Given the description of an element on the screen output the (x, y) to click on. 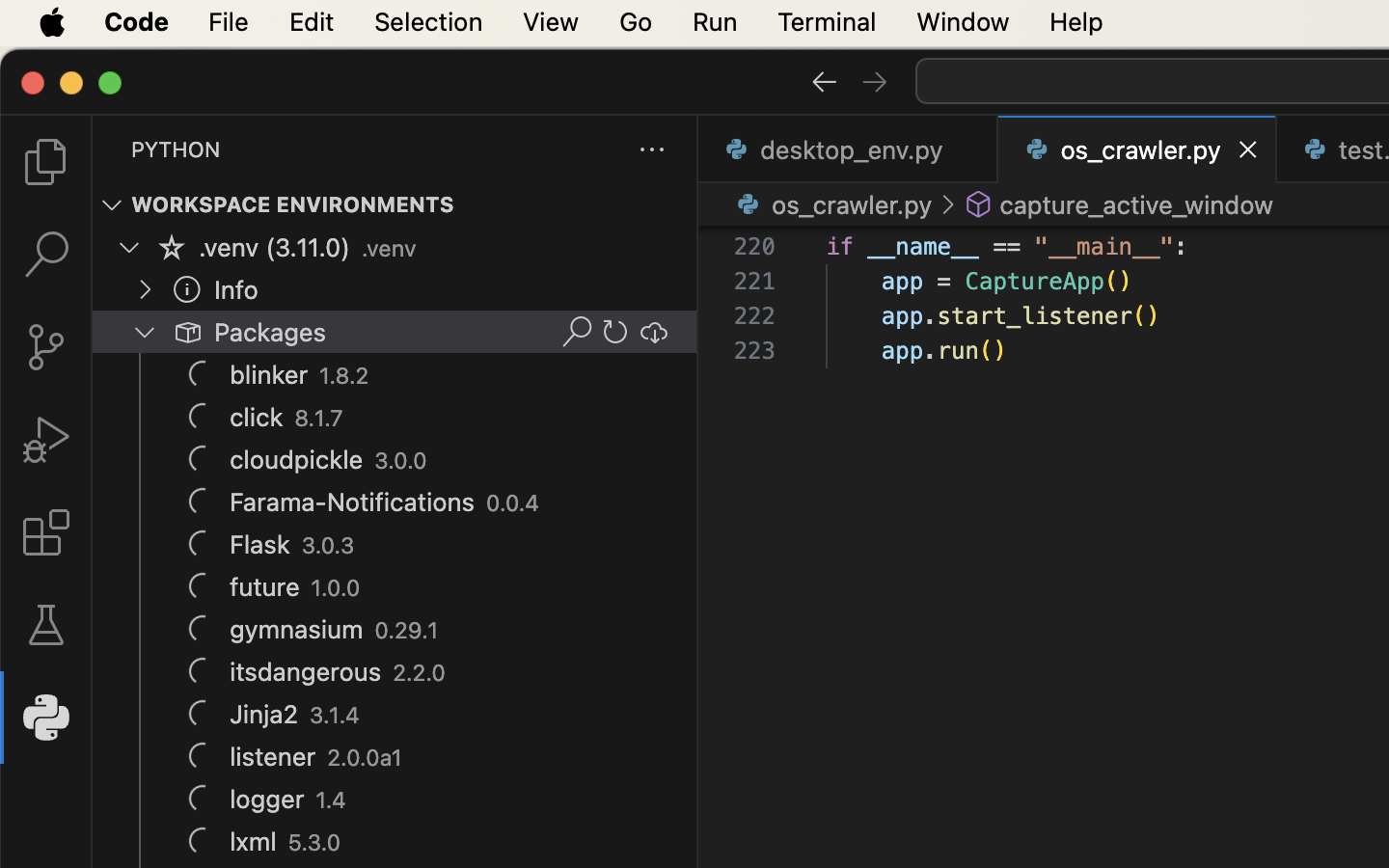
 Element type: AXStaticText (947, 204)
os_crawler.py  Element type: AXGroup (831, 204)
logger Element type: AXStaticText (266, 799)
lxml Element type: AXStaticText (253, 841)
 Element type: AXStaticText (171, 246)
